Given the description of an element on the screen output the (x, y) to click on. 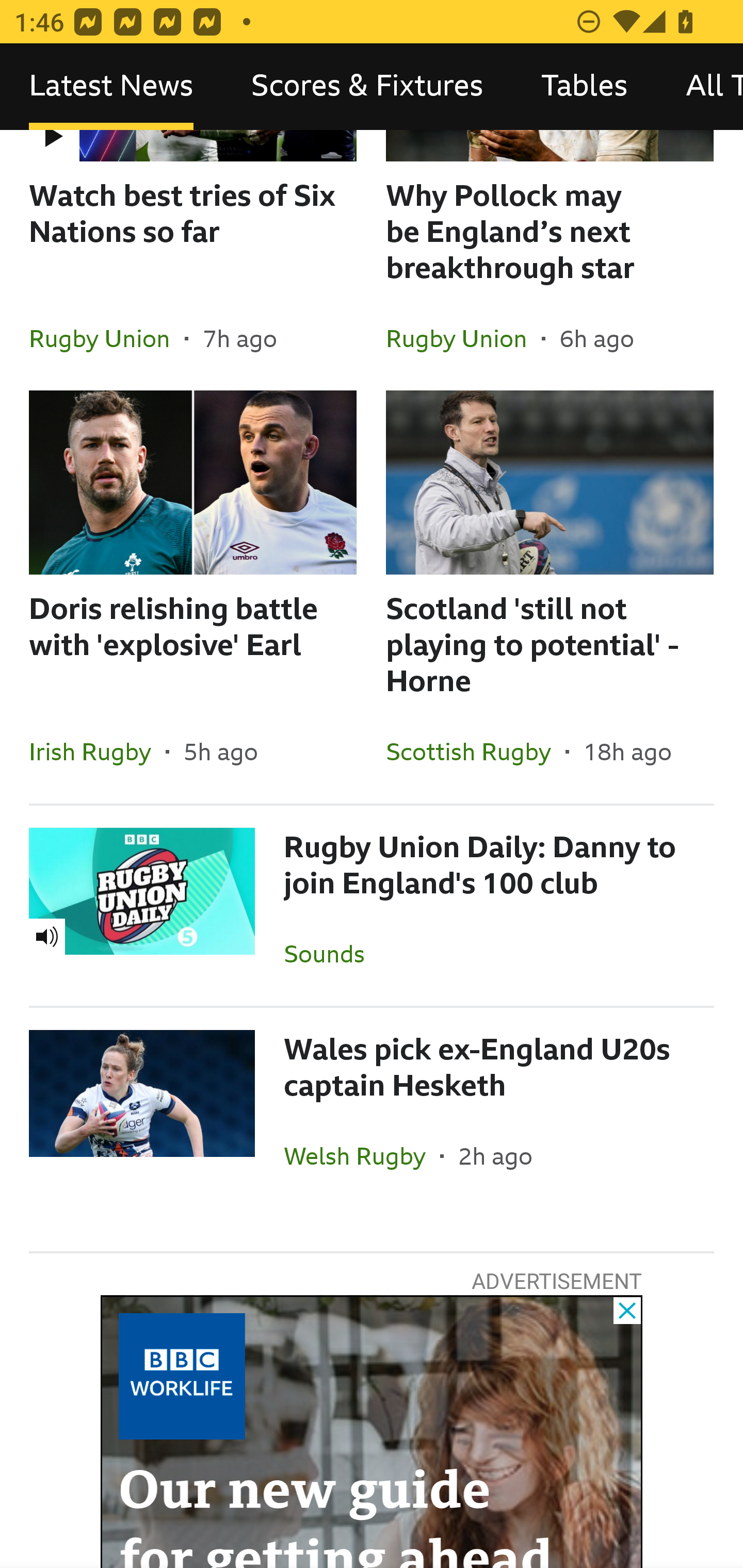
Latest News, selected Latest News (111, 86)
Scores & Fixtures (367, 86)
Tables (584, 86)
Irish Rugby In the section Irish Rugby (96, 750)
Scottish Rugby In the section Scottish Rugby (475, 750)
Sounds In the section Sounds (330, 953)
Welsh Rugby In the section Welsh Rugby (361, 1155)
